Given the description of an element on the screen output the (x, y) to click on. 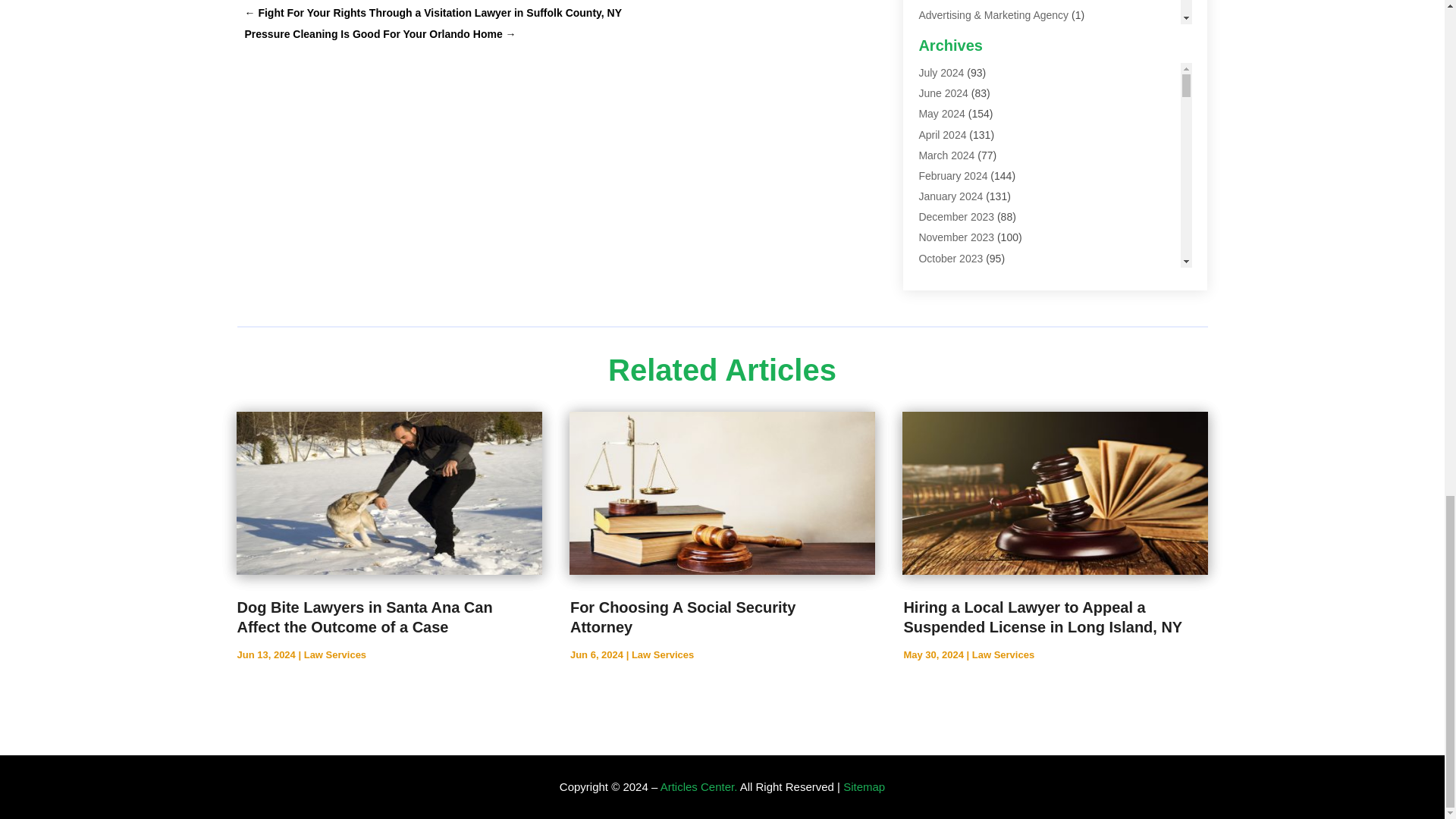
Agricultural Service (964, 55)
Advertising Agency (963, 35)
